Given the description of an element on the screen output the (x, y) to click on. 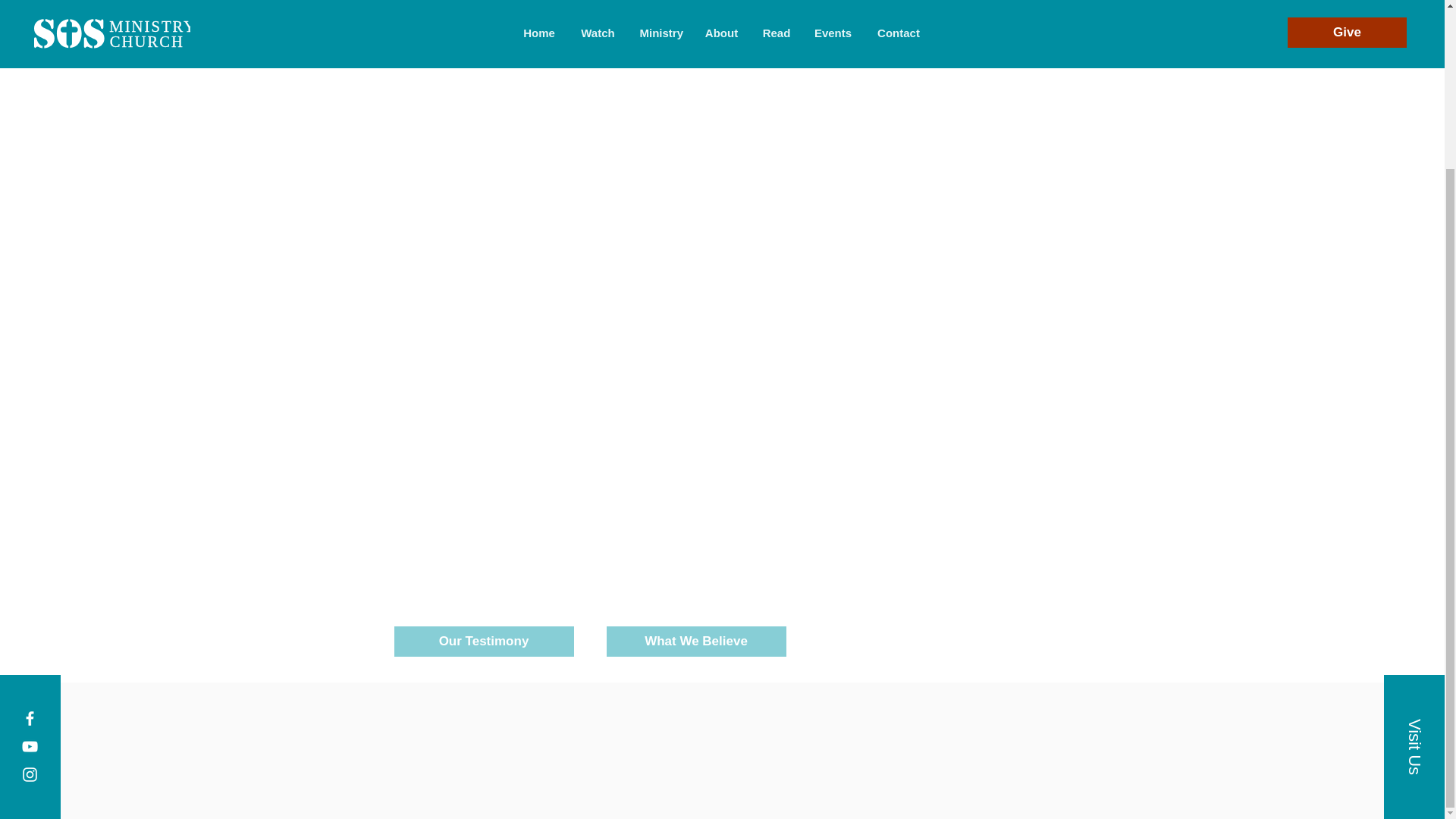
What We Believe (696, 641)
Our Testimony (483, 641)
